Given the description of an element on the screen output the (x, y) to click on. 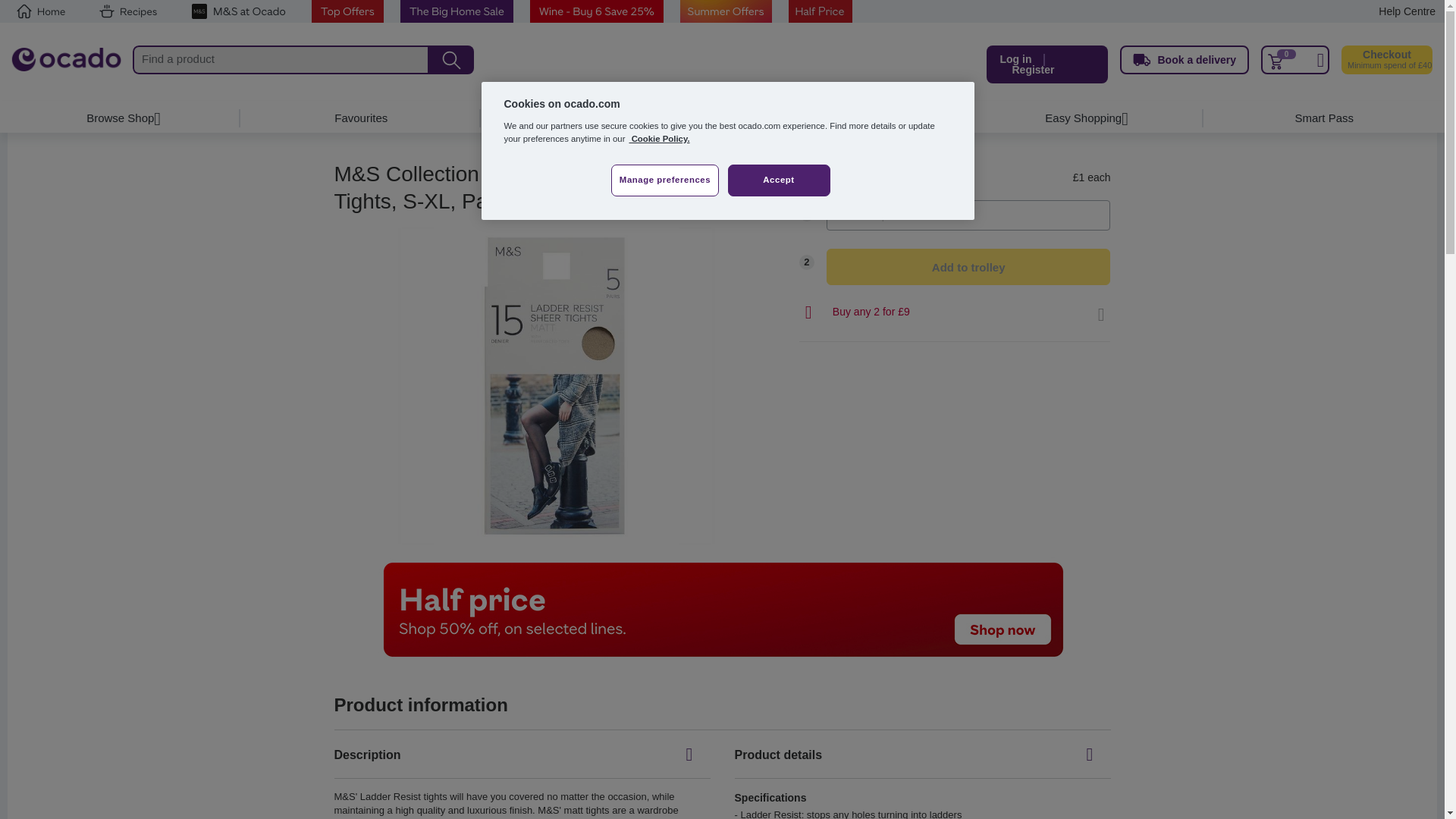
Favourites (361, 118)
Browse Shop (120, 118)
Help Centre (1406, 10)
Add to trolley (968, 266)
Book a delivery (1184, 59)
Big Home Sale (456, 11)
Recipes (127, 11)
Home (41, 11)
Reviews 1.0 of 5 (598, 205)
Home (66, 64)
Offers (601, 118)
Product details (921, 754)
Description (521, 754)
Register (1032, 69)
Inspire Me (842, 118)
